Given the description of an element on the screen output the (x, y) to click on. 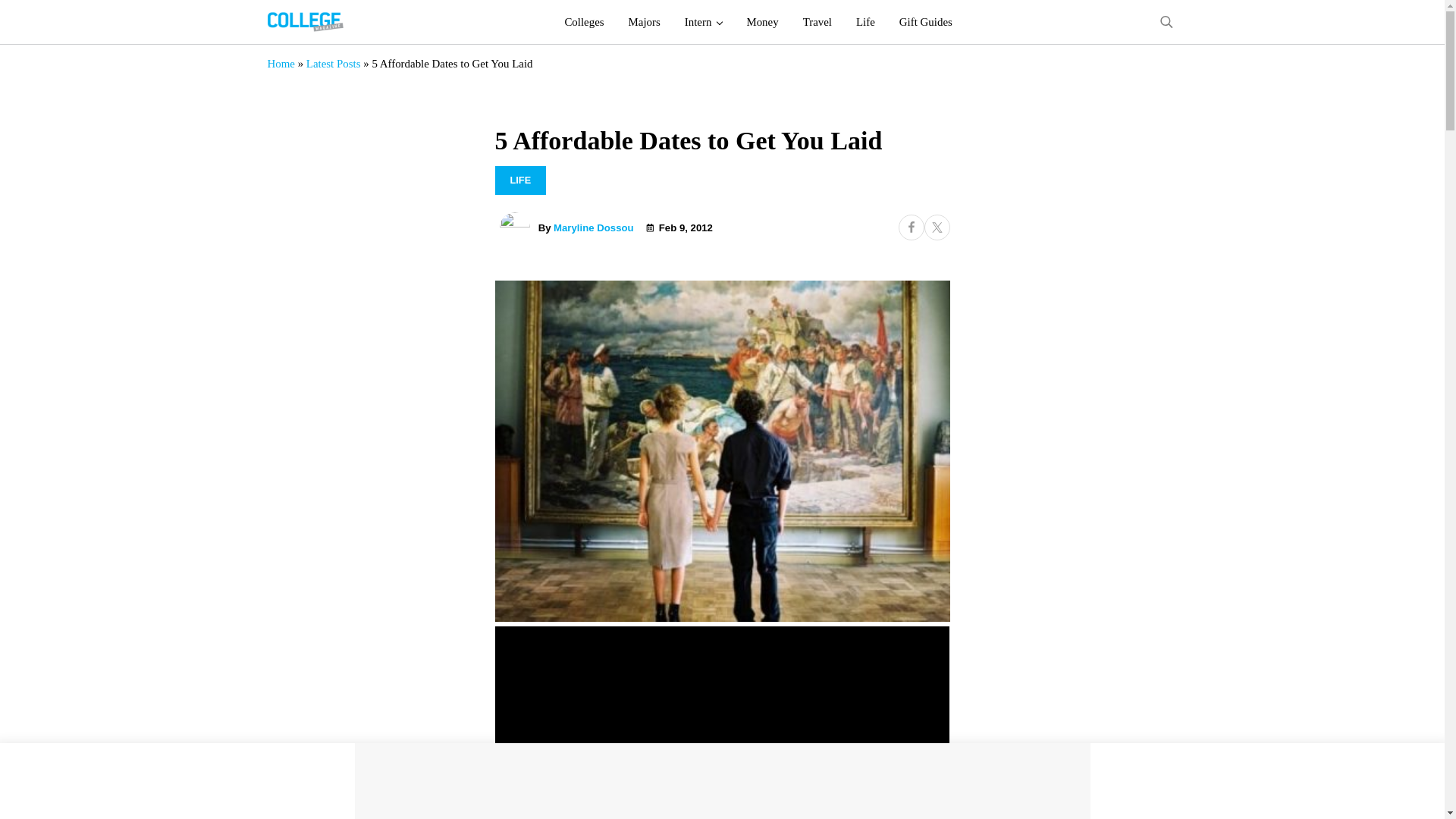
Share on Facebook (910, 227)
Life (865, 21)
Majors (643, 21)
Share on Twitter (936, 227)
Gift Guides (924, 21)
Travel (817, 21)
Intern (703, 21)
Money (761, 21)
Colleges (583, 21)
